Given the description of an element on the screen output the (x, y) to click on. 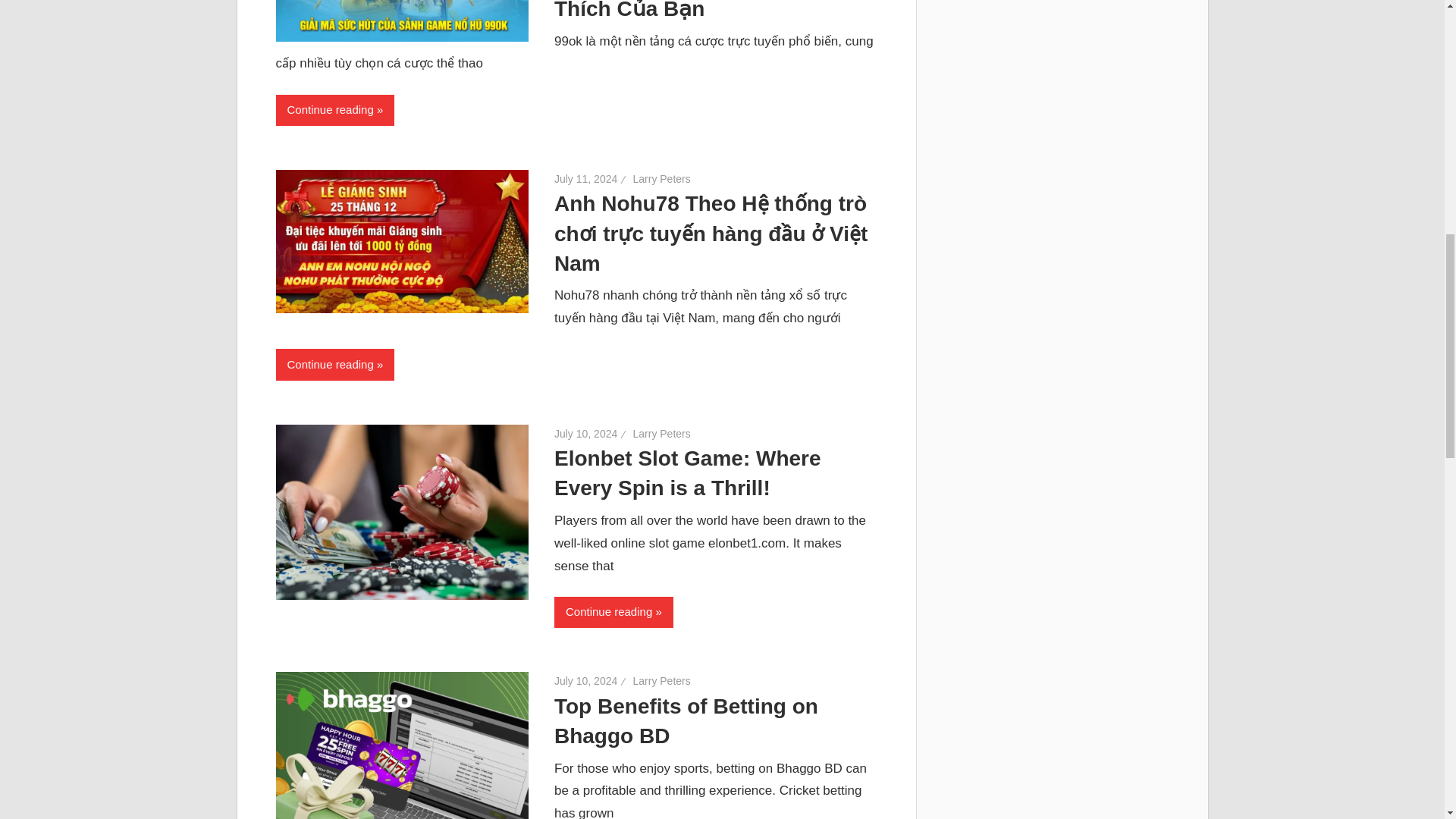
View all posts by Larry Peters (660, 680)
View all posts by Larry Peters (660, 178)
View all posts by Larry Peters (660, 433)
July 10, 2024 (585, 680)
Elonbet Slot Game: Where Every Spin is a Thrill! (687, 472)
Top Benefits of Betting on Bhaggo BD (686, 720)
July 11, 2024 (585, 178)
7:00 am (585, 178)
Continue reading (335, 110)
Continue reading (613, 612)
6:13 am (585, 433)
Larry Peters (660, 433)
5:35 am (585, 680)
Larry Peters (660, 680)
July 10, 2024 (585, 433)
